Given the description of an element on the screen output the (x, y) to click on. 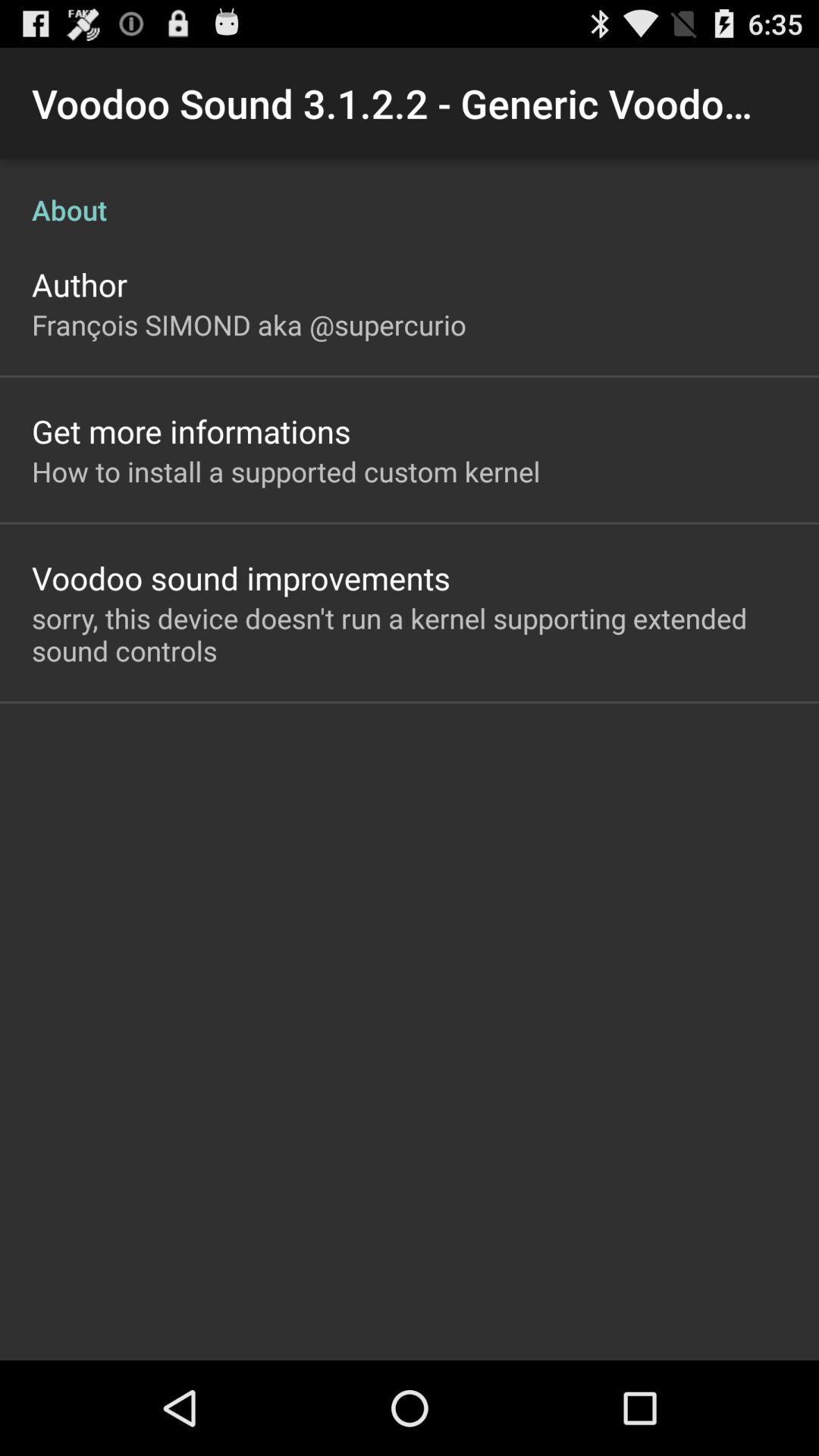
click item below get more informations item (285, 471)
